Given the description of an element on the screen output the (x, y) to click on. 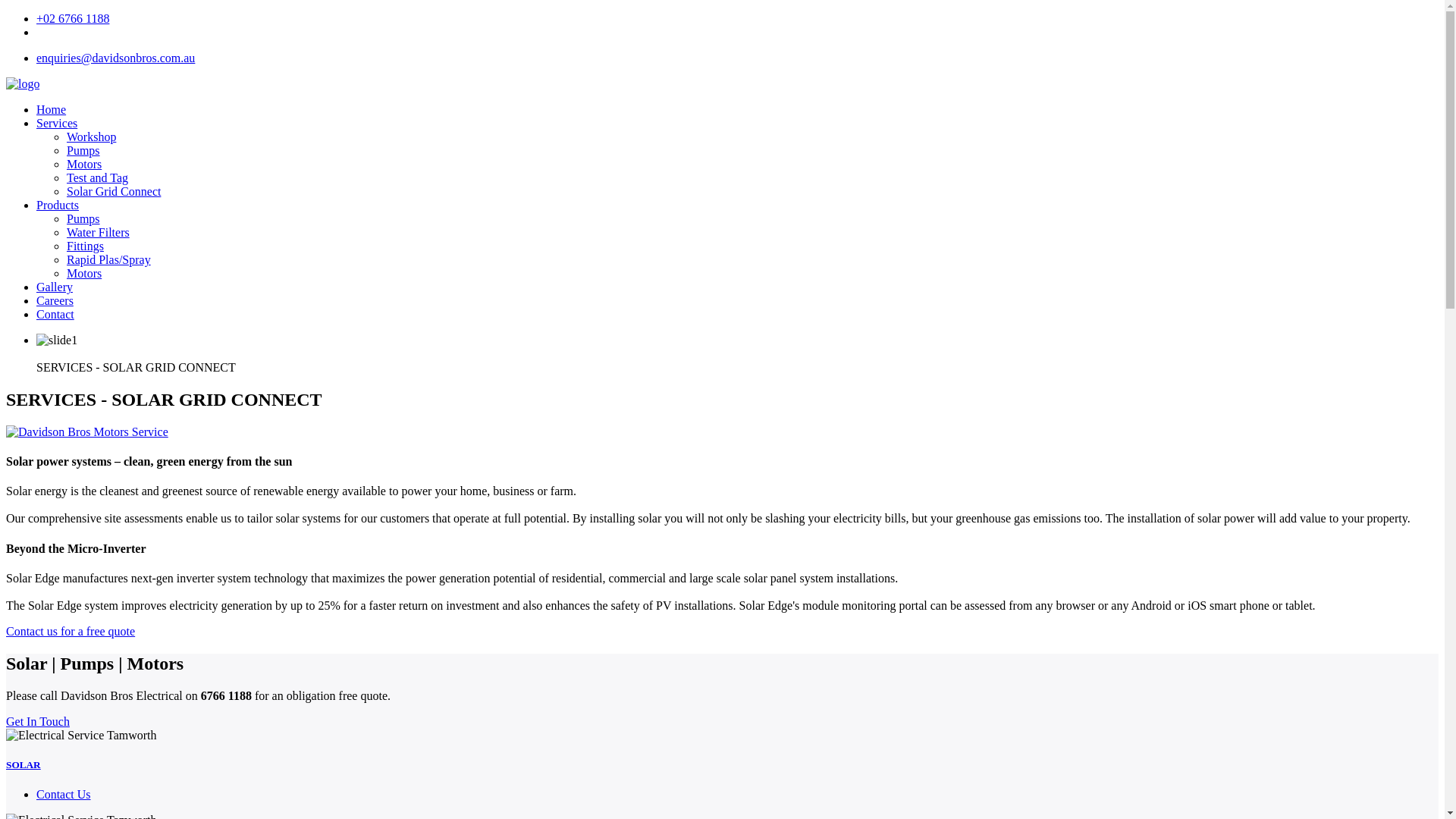
Services (56, 123)
Contact Us (63, 793)
Home (50, 109)
Solar Grid Connect (113, 191)
Contact (55, 314)
Motors (83, 273)
Contact us for a free quote (70, 631)
Fittings (84, 245)
Motors (83, 164)
Pumps (83, 218)
Water Filters (97, 232)
Products (57, 205)
Pumps (83, 150)
Careers (55, 300)
Gallery (54, 286)
